Given the description of an element on the screen output the (x, y) to click on. 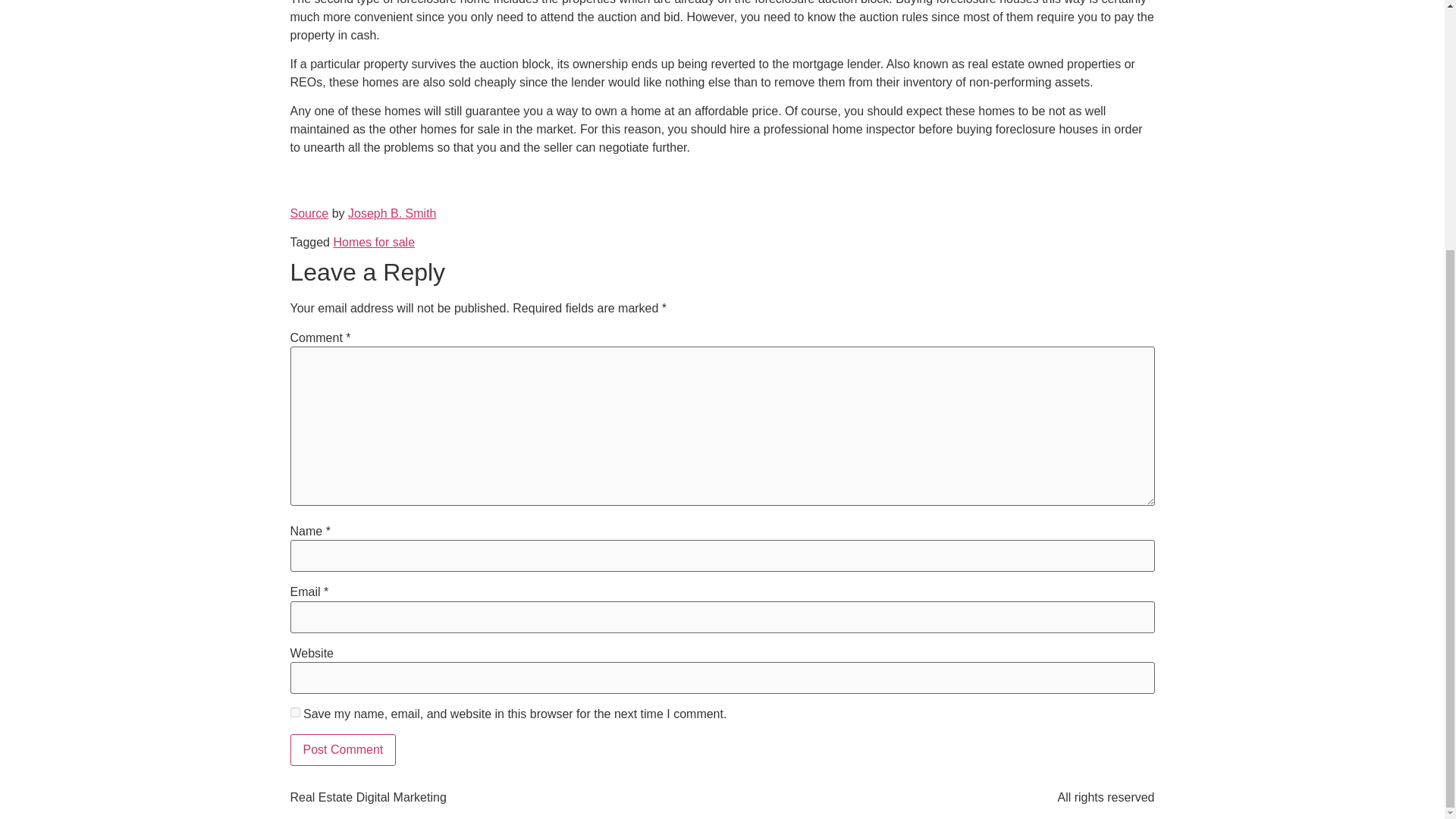
Homes for sale (373, 241)
Source (309, 213)
Post Comment (342, 749)
yes (294, 712)
Post Comment (342, 749)
Joseph B. Smith (391, 213)
